Given the description of an element on the screen output the (x, y) to click on. 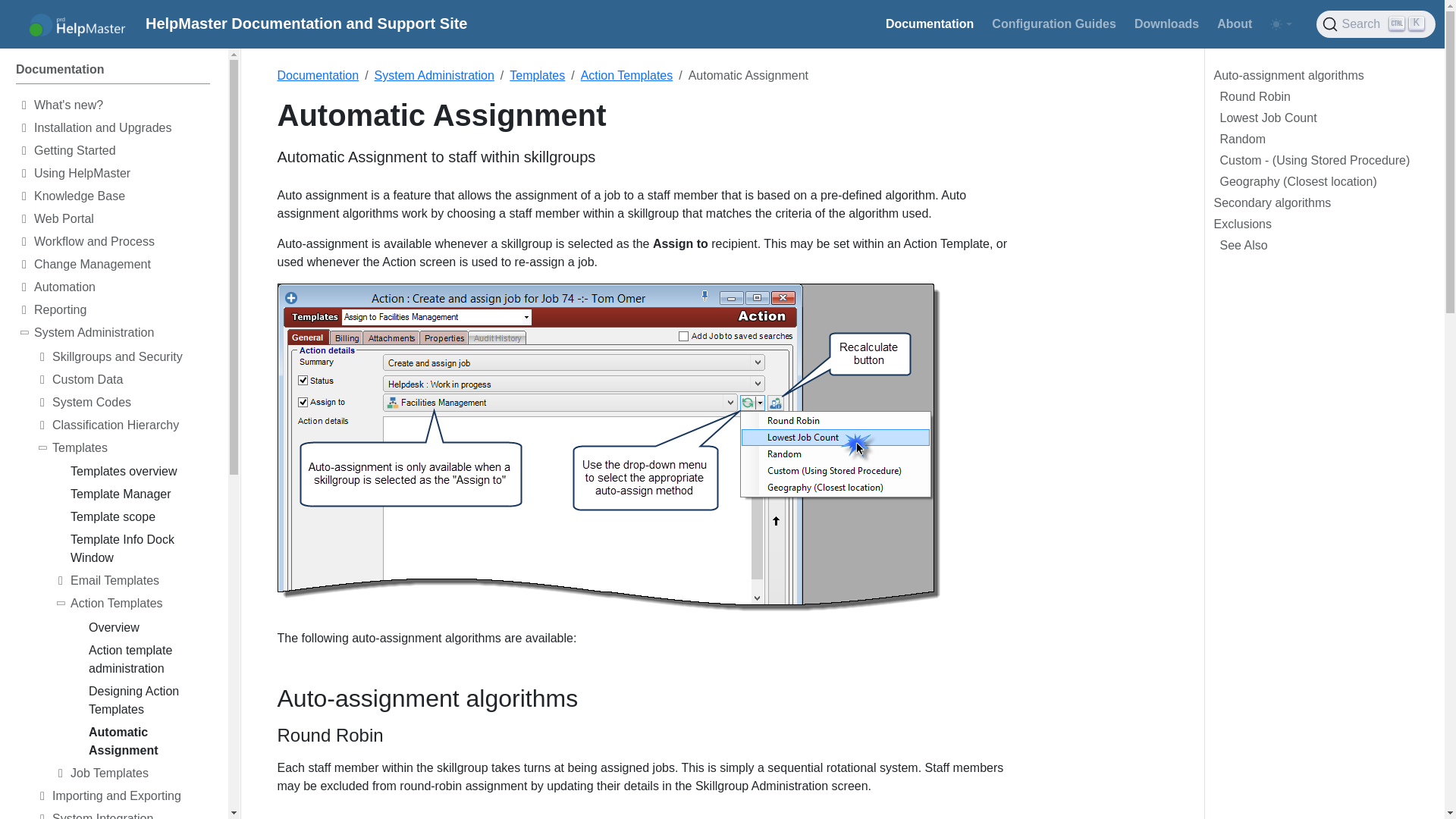
What's new? (1091, 24)
HelpMaster Documentation (121, 107)
Documentation (112, 72)
Downloads (929, 24)
About (1375, 23)
HelpMaster Documentation and Support Site (1166, 24)
Configuration Guides (1234, 24)
Documentation (237, 24)
